Given the description of an element on the screen output the (x, y) to click on. 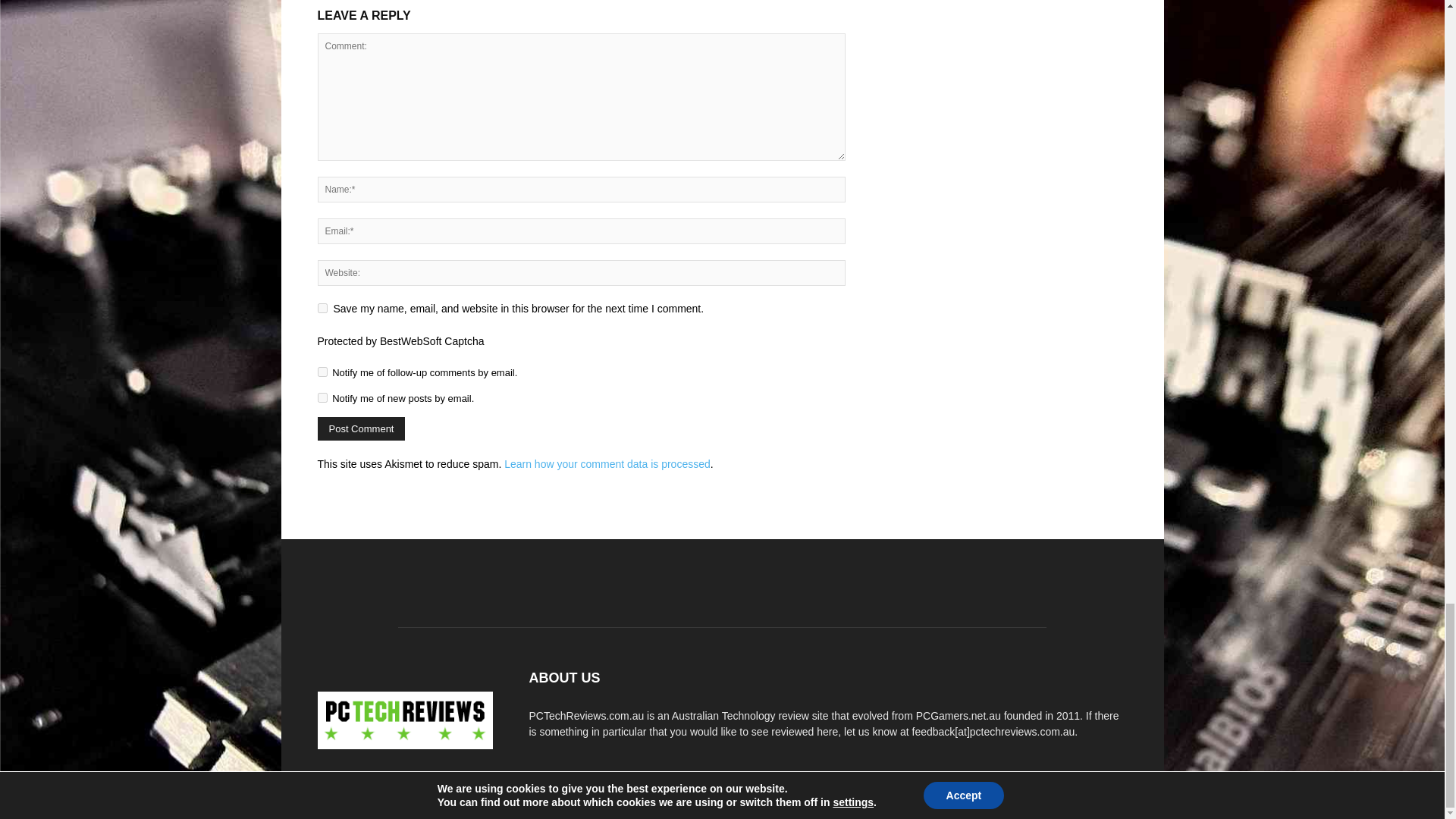
subscribe (321, 371)
subscribe (321, 397)
yes (321, 307)
Post Comment (360, 428)
